Given the description of an element on the screen output the (x, y) to click on. 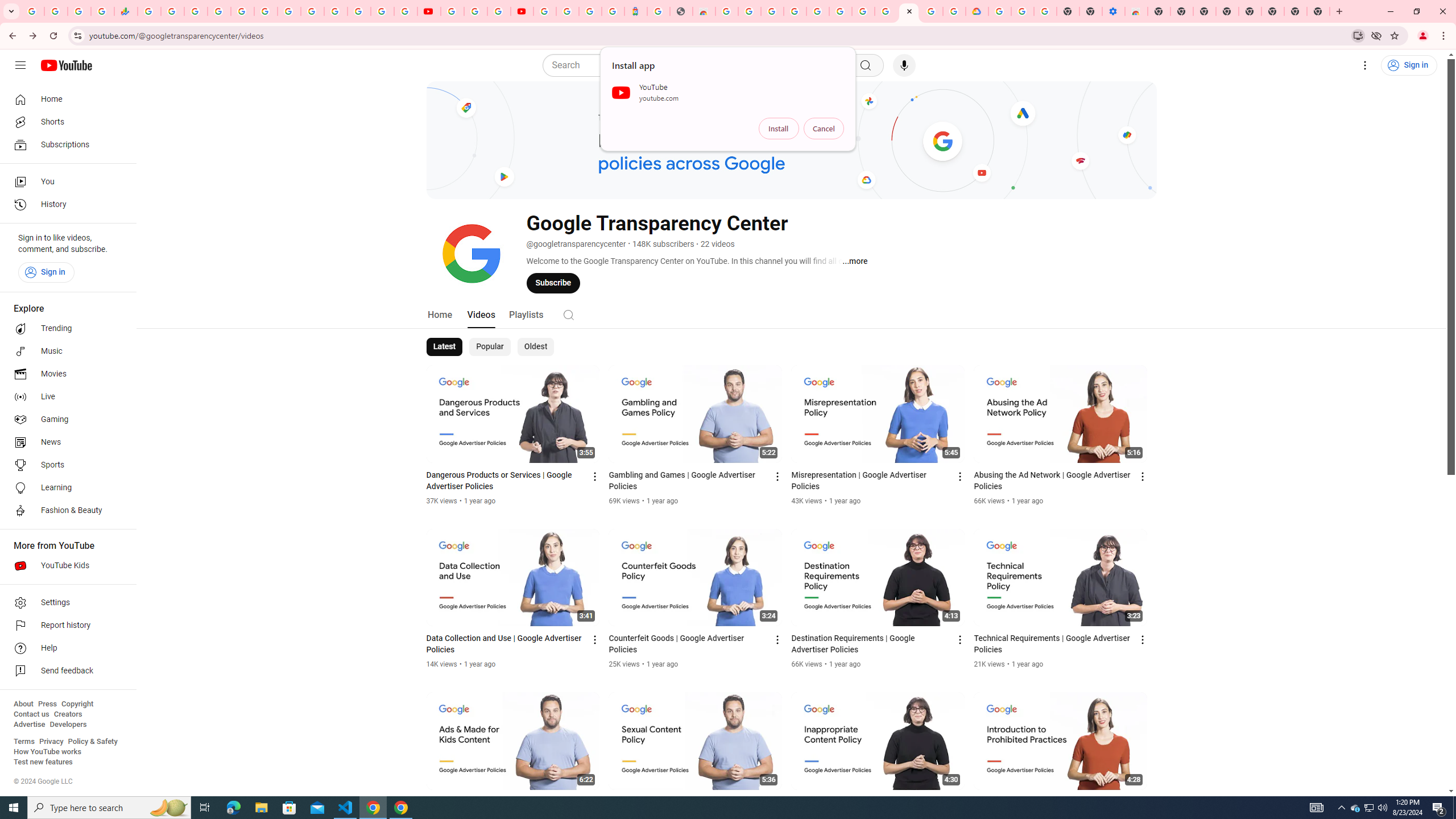
Install YouTube (1358, 35)
Sign in - Google Accounts (817, 11)
History (64, 204)
Chrome Web Store - Household (703, 11)
Latest (444, 346)
Advertise (29, 724)
Sign in - Google Accounts (999, 11)
Search with your voice (903, 65)
Help (64, 648)
